Given the description of an element on the screen output the (x, y) to click on. 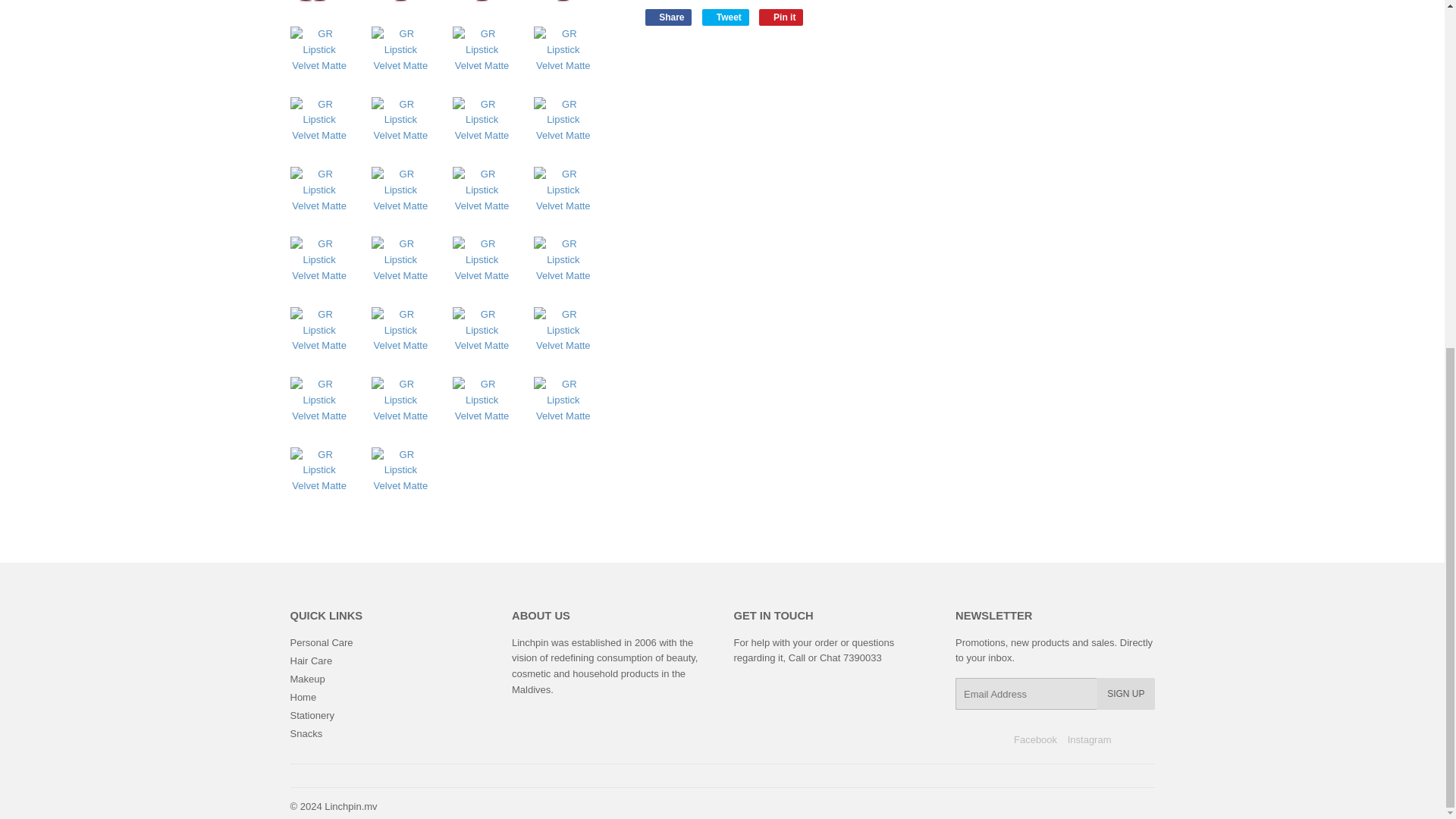
Linchpin.mv on Facebook (1035, 739)
Tweet on Twitter (725, 17)
Linchpin.mv on Instagram (1089, 739)
Share on Facebook (668, 17)
Pin on Pinterest (780, 17)
